Given the description of an element on the screen output the (x, y) to click on. 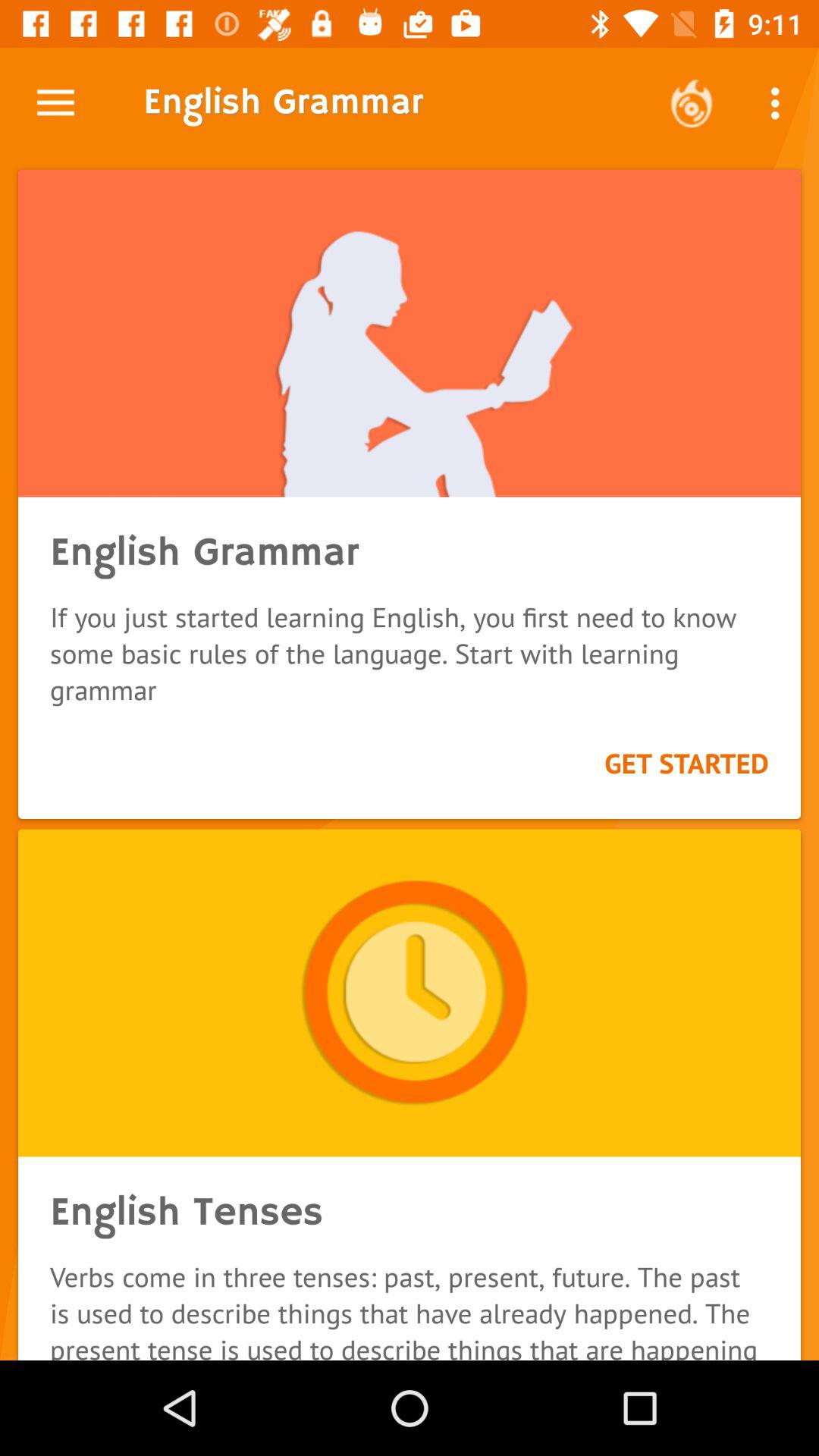
tap icon next to the english grammar icon (55, 103)
